Given the description of an element on the screen output the (x, y) to click on. 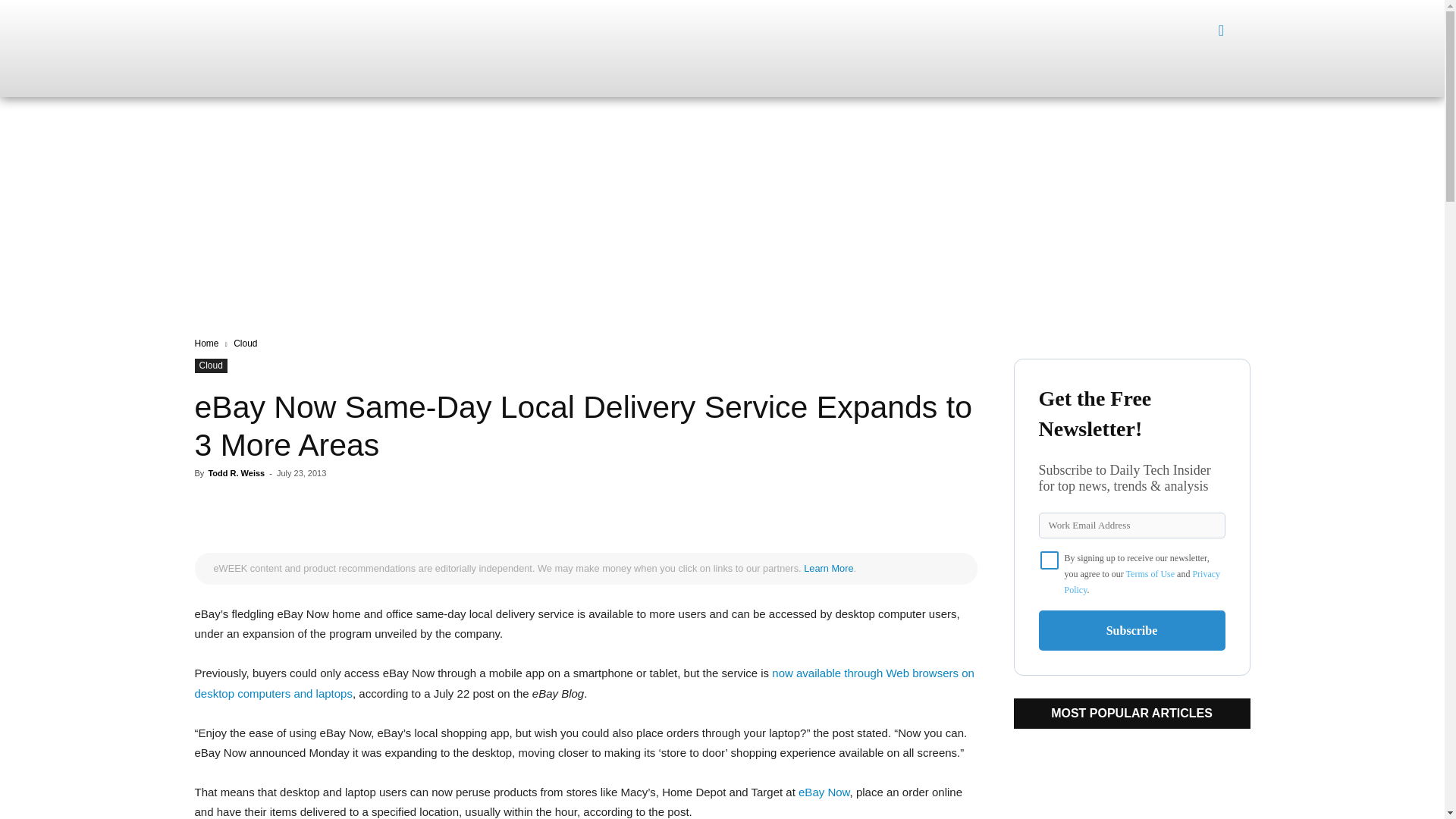
on (1049, 560)
